Given the description of an element on the screen output the (x, y) to click on. 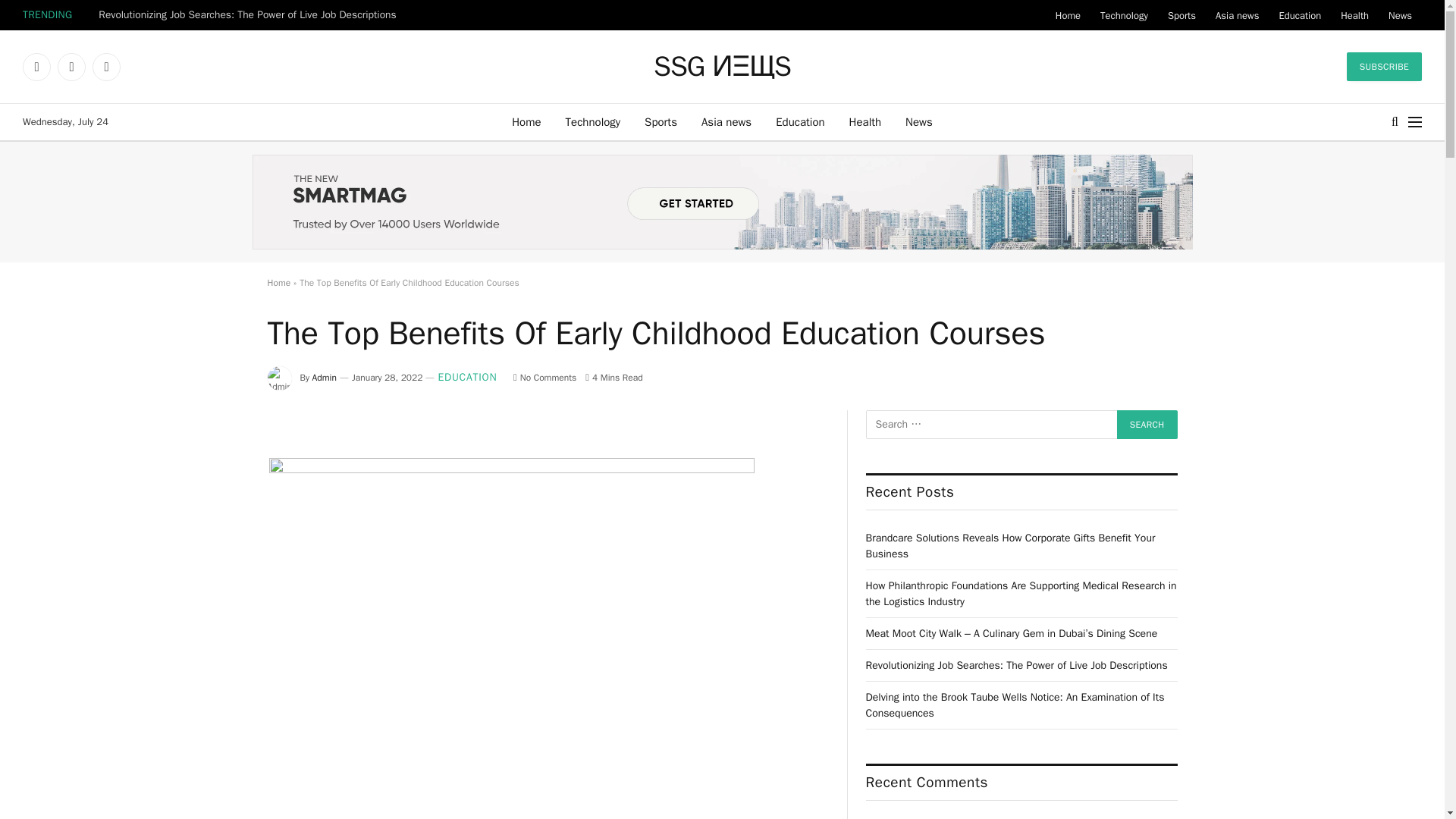
Home (526, 122)
Education (1299, 15)
SUBSCRIBE (1384, 66)
Asia news (1236, 15)
News (918, 122)
Facebook (36, 67)
Health (865, 122)
Education (798, 122)
Sports (659, 122)
Search (1146, 424)
Sports (1181, 15)
Health (1354, 15)
Asia news (725, 122)
Home (1067, 15)
